Given the description of an element on the screen output the (x, y) to click on. 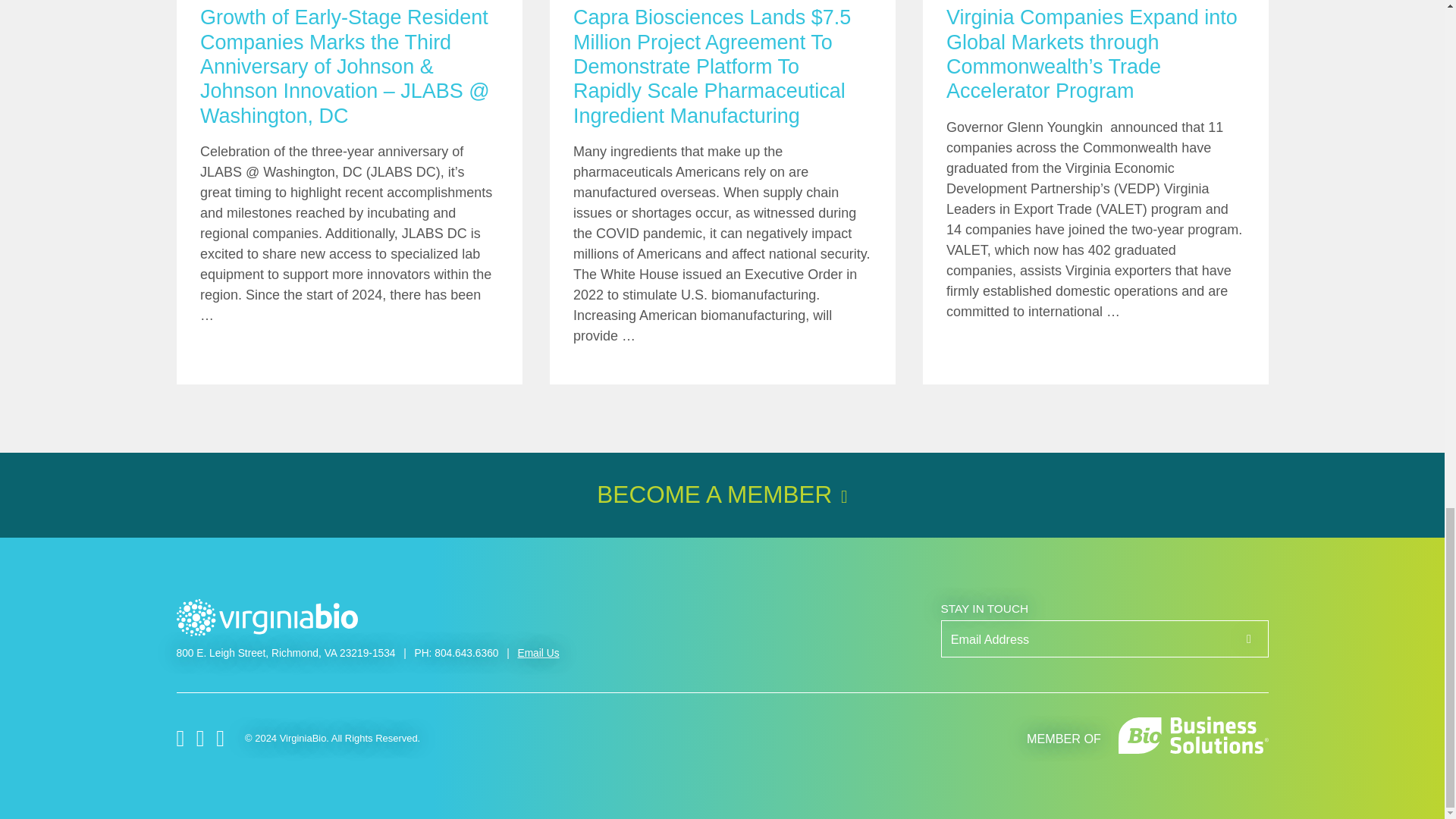
Submit (1247, 638)
